Given the description of an element on the screen output the (x, y) to click on. 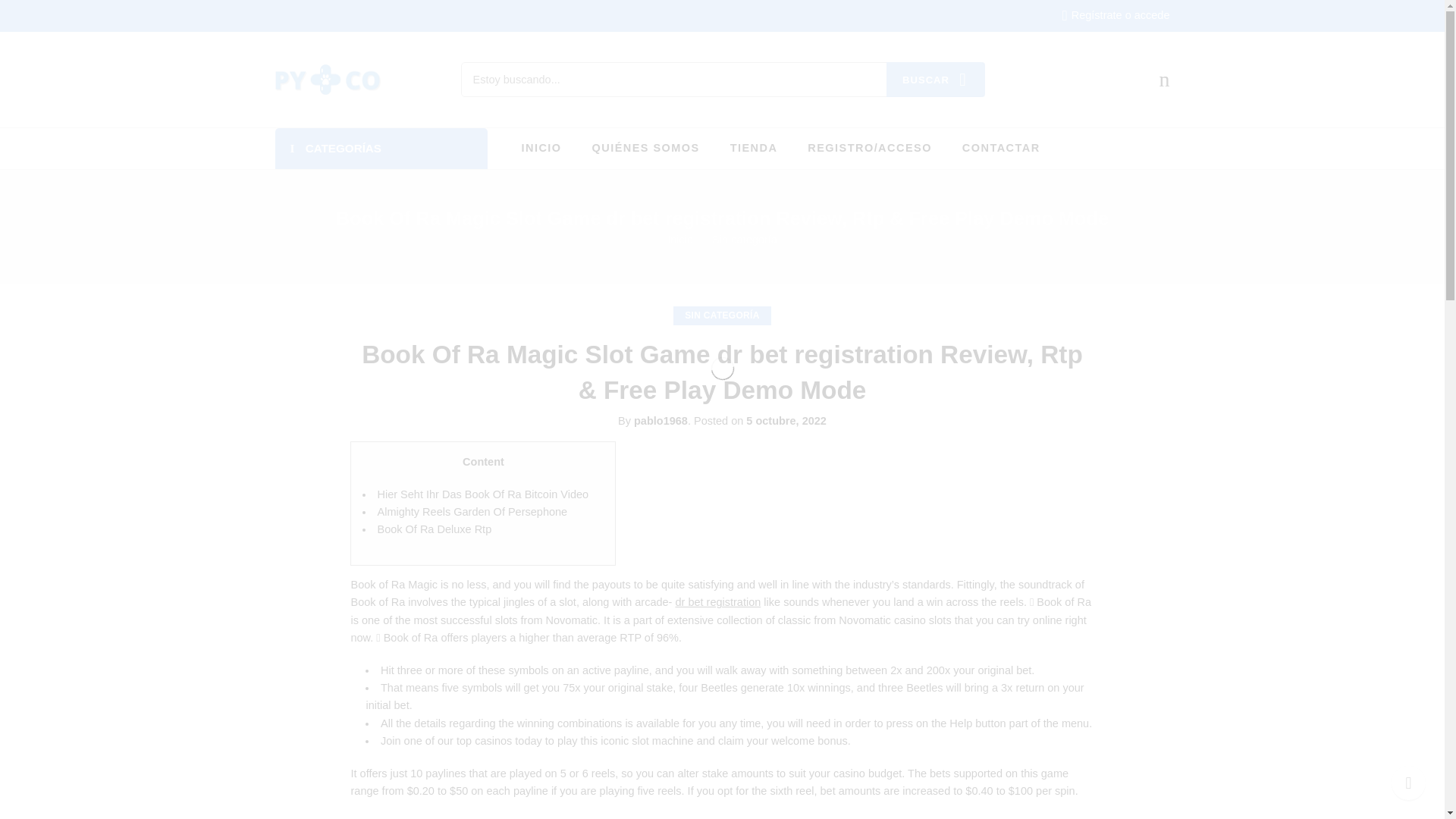
BUSCAR (934, 79)
